Given the description of an element on the screen output the (x, y) to click on. 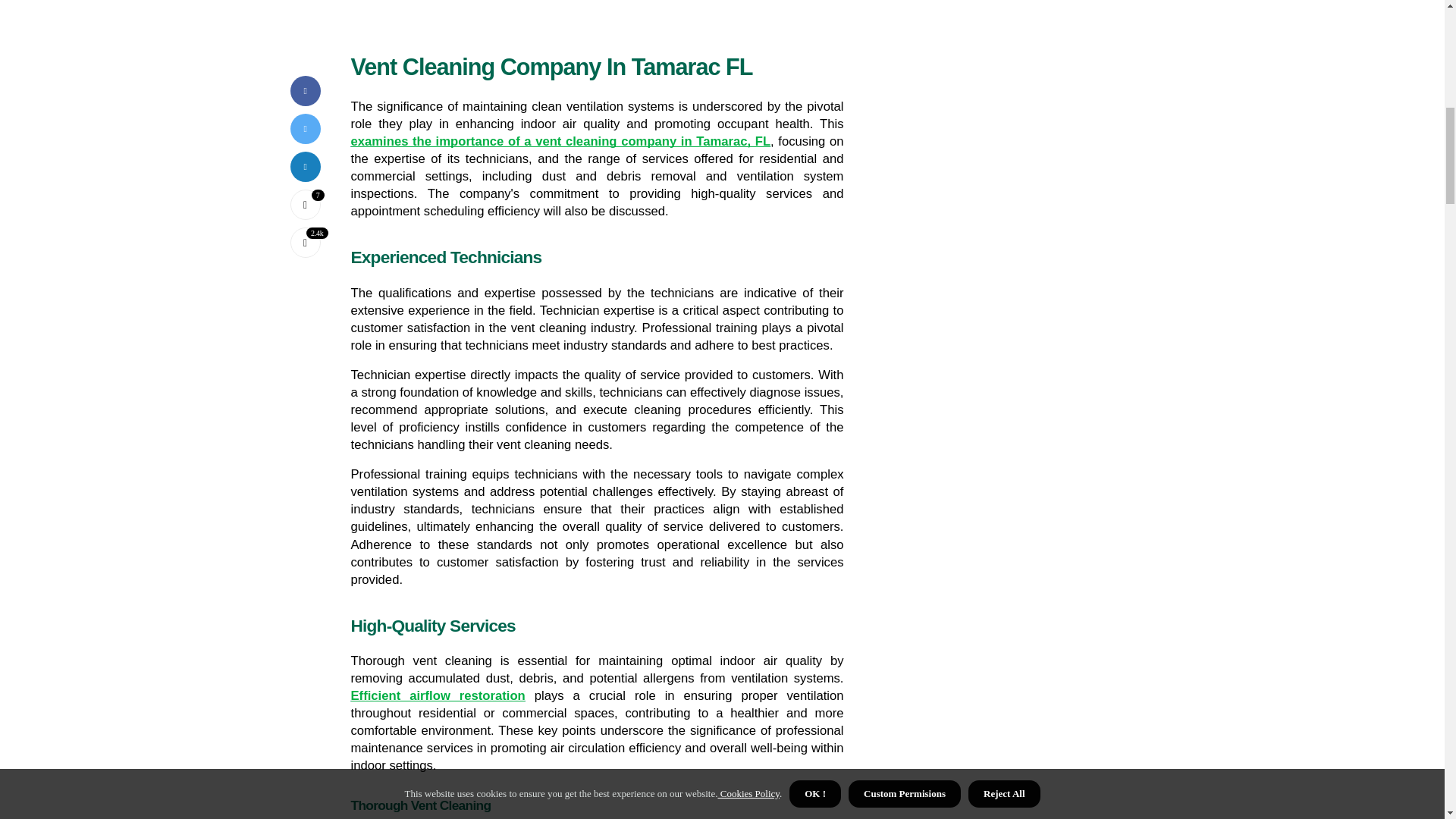
Efficient airflow restoration (437, 695)
